Given the description of an element on the screen output the (x, y) to click on. 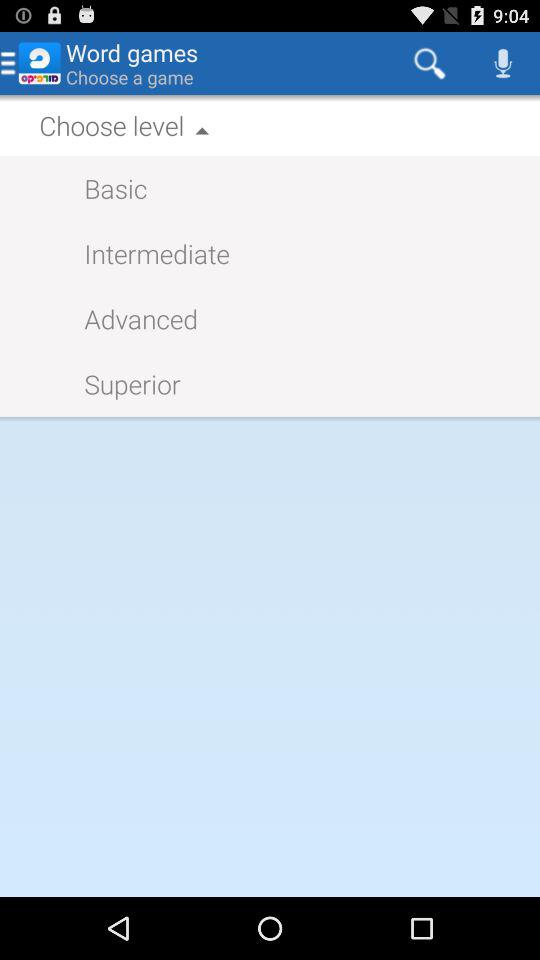
launch the item below intermediate item (131, 318)
